Given the description of an element on the screen output the (x, y) to click on. 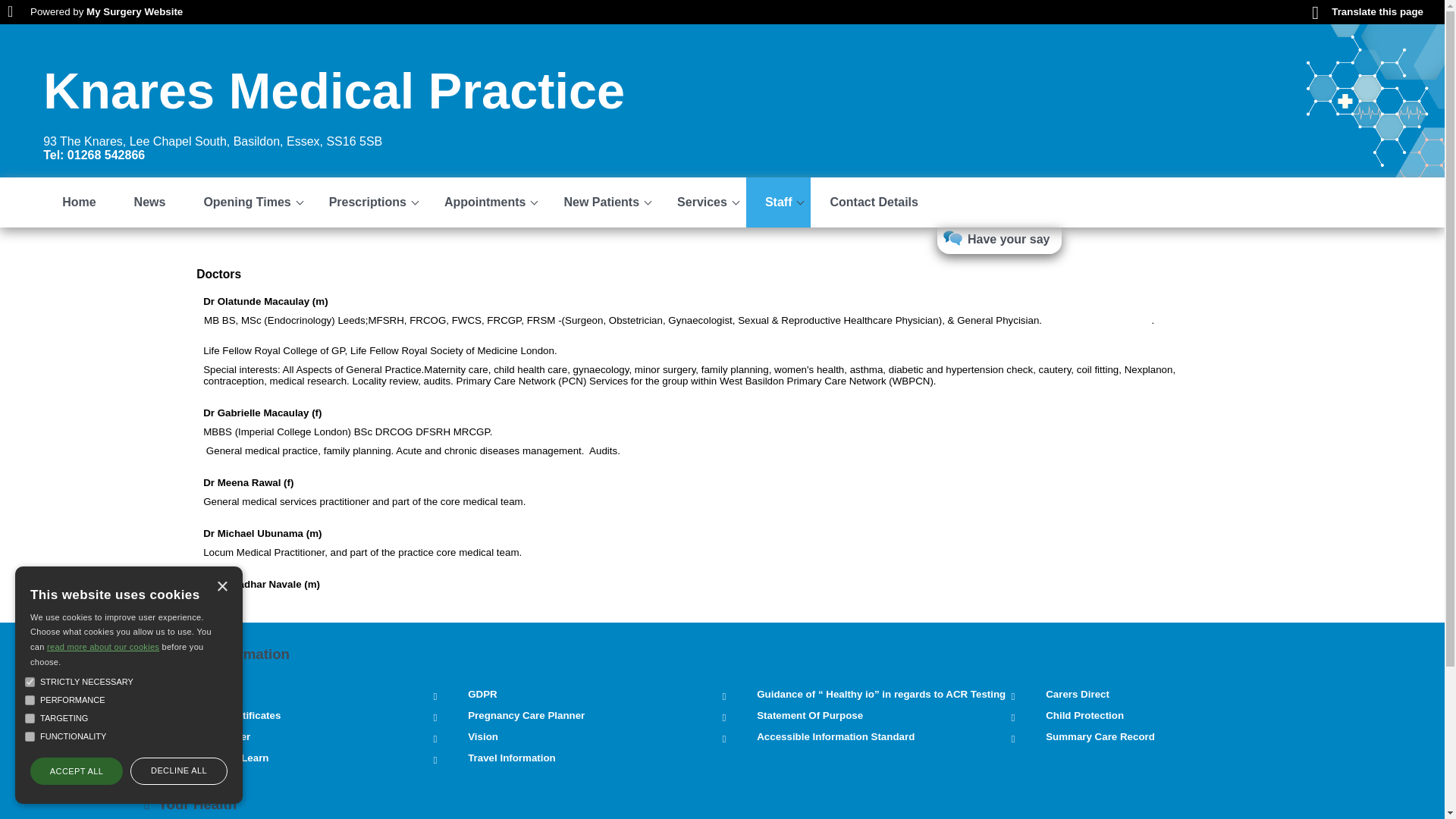
Translate this page (1367, 11)
Contact Details (873, 202)
New Patients (601, 202)
read more about our cookies (102, 646)
Staff (777, 202)
Appointments (484, 202)
Opening Times (246, 202)
performance (29, 700)
Knares Medical Practice (333, 90)
Knares Medical Practice (333, 90)
Prescriptions (367, 202)
Services (701, 202)
functionality (29, 737)
DECLINE ALL (179, 770)
